Given the description of an element on the screen output the (x, y) to click on. 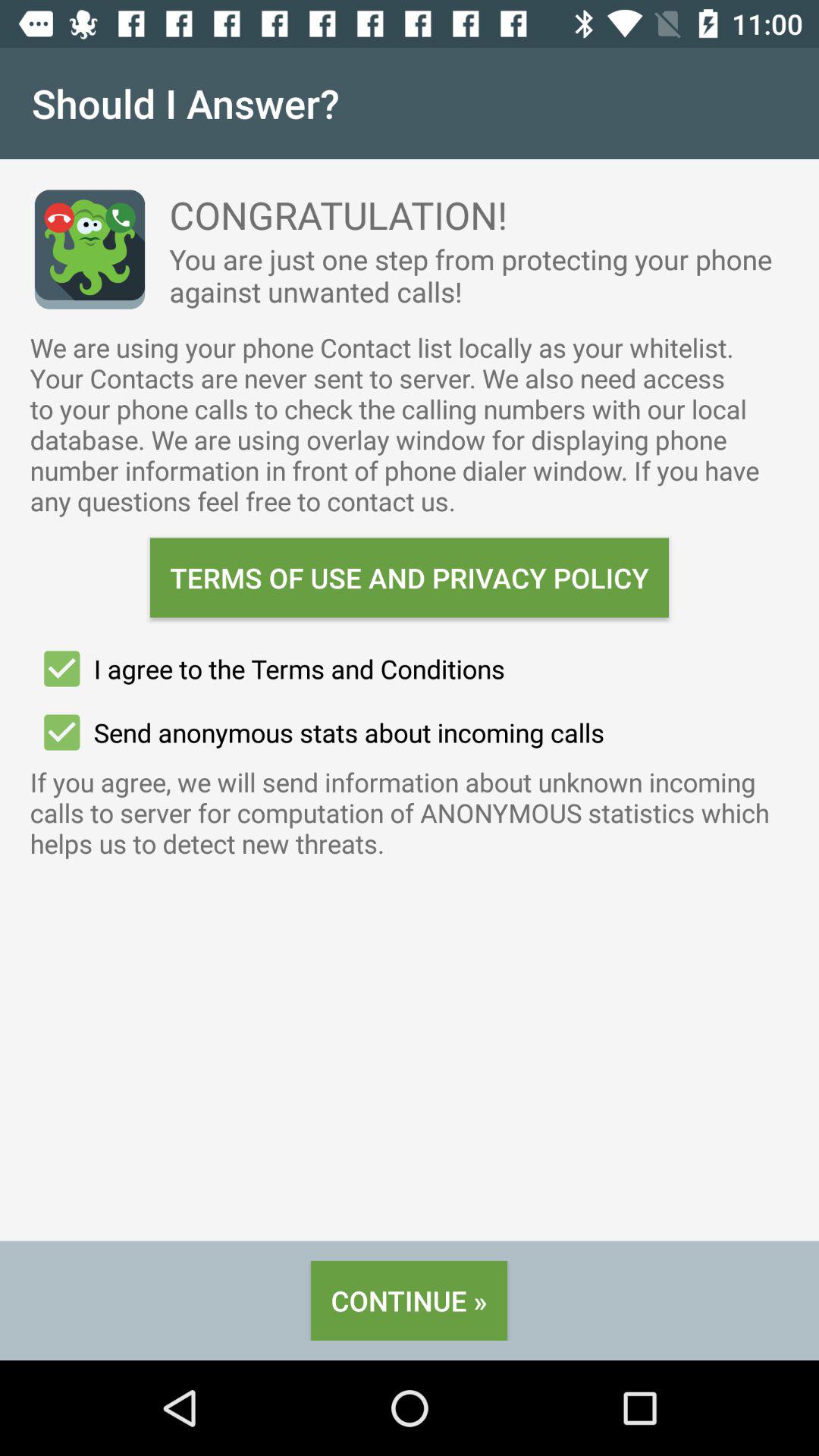
launch item below the if you agree item (409, 1300)
